Given the description of an element on the screen output the (x, y) to click on. 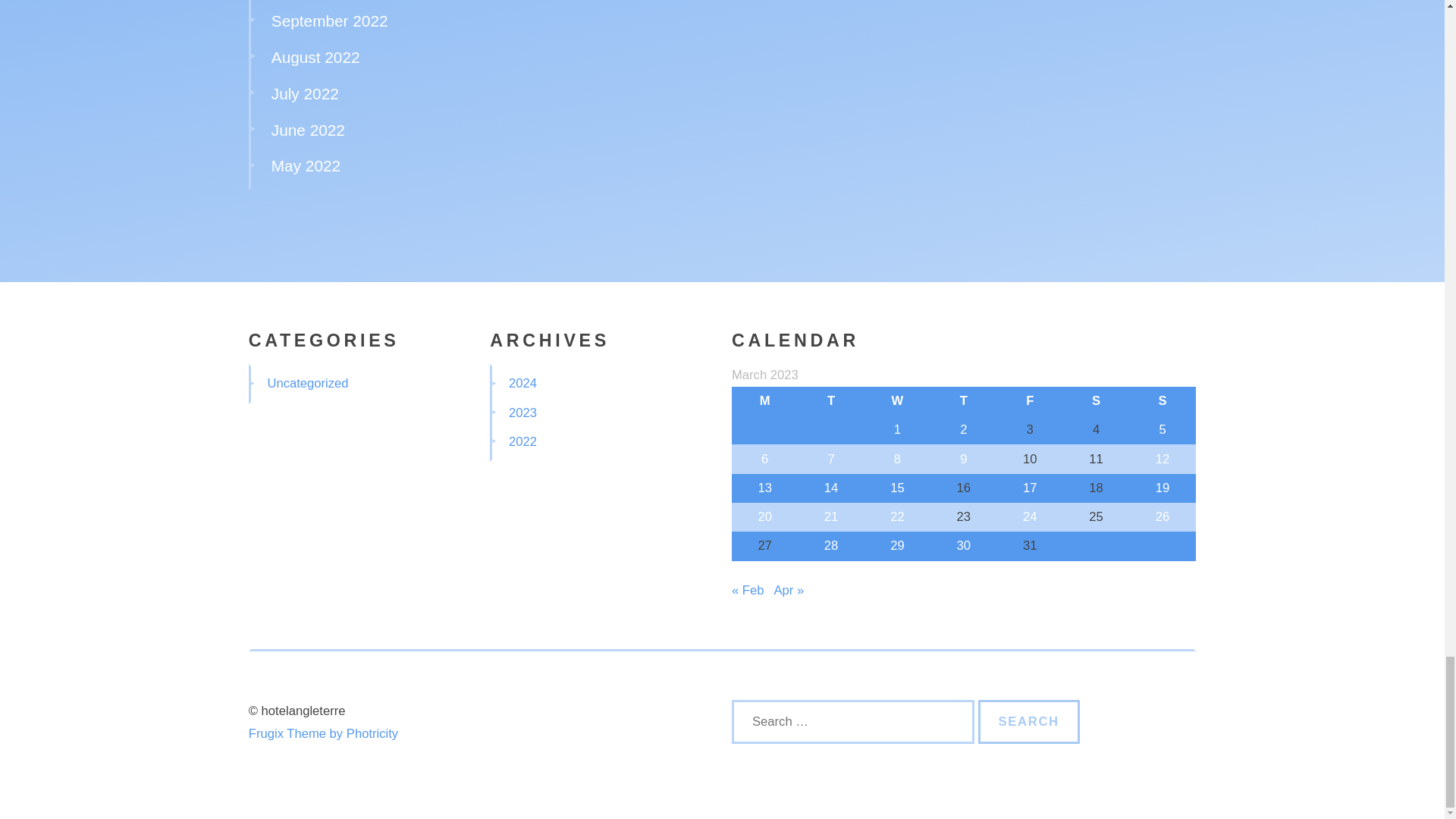
Monday (764, 400)
Search (1029, 721)
August 2022 (314, 57)
Tuesday (830, 400)
September 2022 (329, 20)
Saturday (1095, 400)
Search (1029, 721)
Friday (1029, 400)
June 2022 (307, 129)
Sunday (1162, 400)
